Given the description of an element on the screen output the (x, y) to click on. 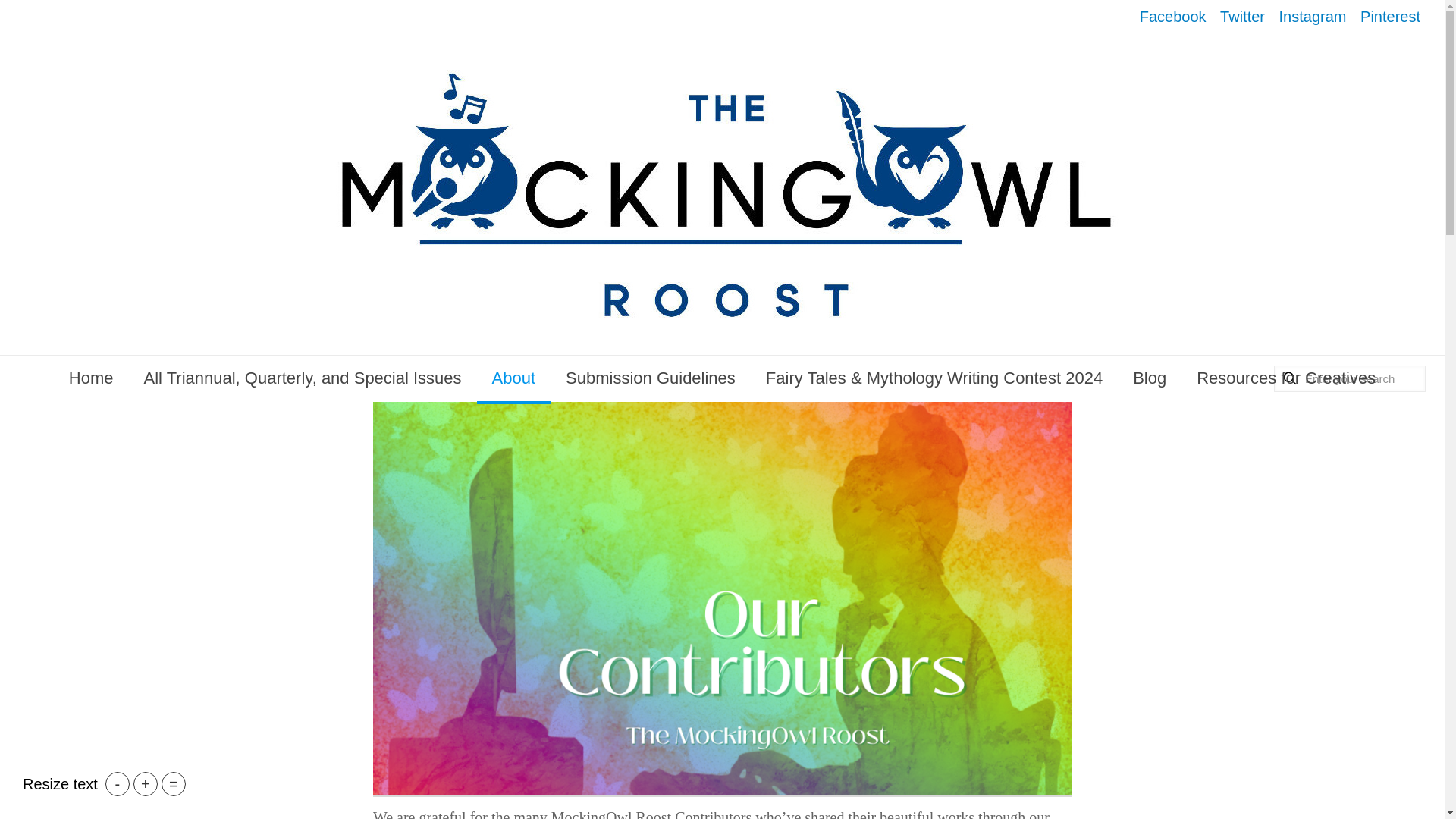
Blog (1149, 378)
Pinterest (1390, 16)
All Triannual, Quarterly, and Special Issues (303, 378)
Decrease text size (116, 784)
Facebook (1173, 16)
Home (91, 378)
Increase text size (145, 784)
Twitter (1242, 16)
Reset text size (173, 784)
